Given the description of an element on the screen output the (x, y) to click on. 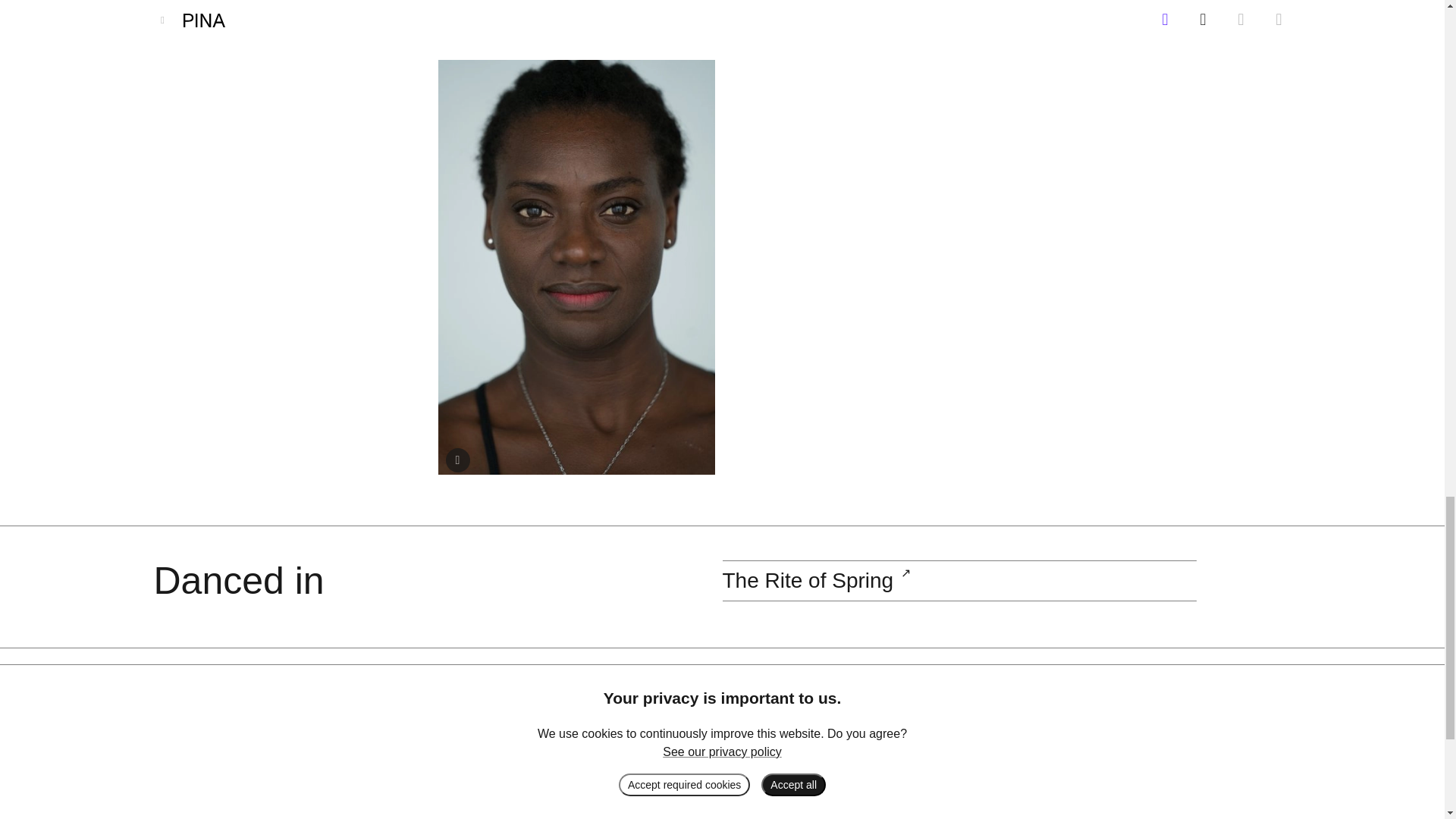
Pina Bausch Fellowship (588, 689)
Search the archives (292, 4)
View credits (457, 459)
View credits (457, 459)
FAQ (353, 731)
About the Pina Bausch Foundation (424, 689)
About the Pina Bausch Archives (417, 711)
The Rite of Spring (807, 580)
